Given the description of an element on the screen output the (x, y) to click on. 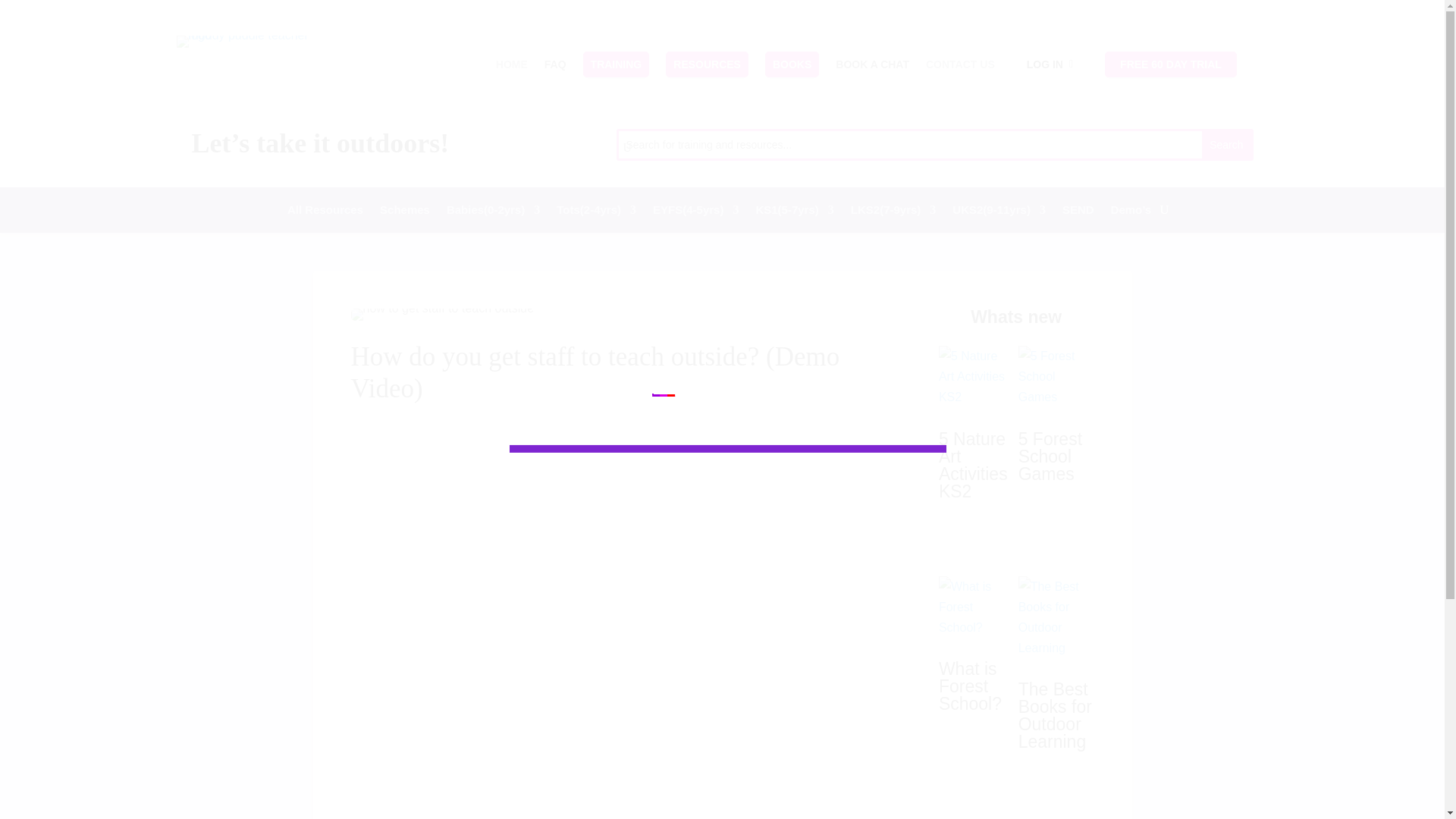
Schemes (404, 212)
LOG IN (1049, 63)
FAQ (555, 64)
HOME (511, 64)
Search (1226, 144)
TRAINING (616, 63)
CONTACT US (960, 64)
Search (1226, 144)
RESOURCES (706, 63)
BOOKS (791, 63)
muddy puddles (244, 41)
Search (1226, 144)
how to get staff to teach outside (442, 314)
FREE 60 DAY TRIAL (1170, 63)
BOOK A CHAT (871, 64)
